Given the description of an element on the screen output the (x, y) to click on. 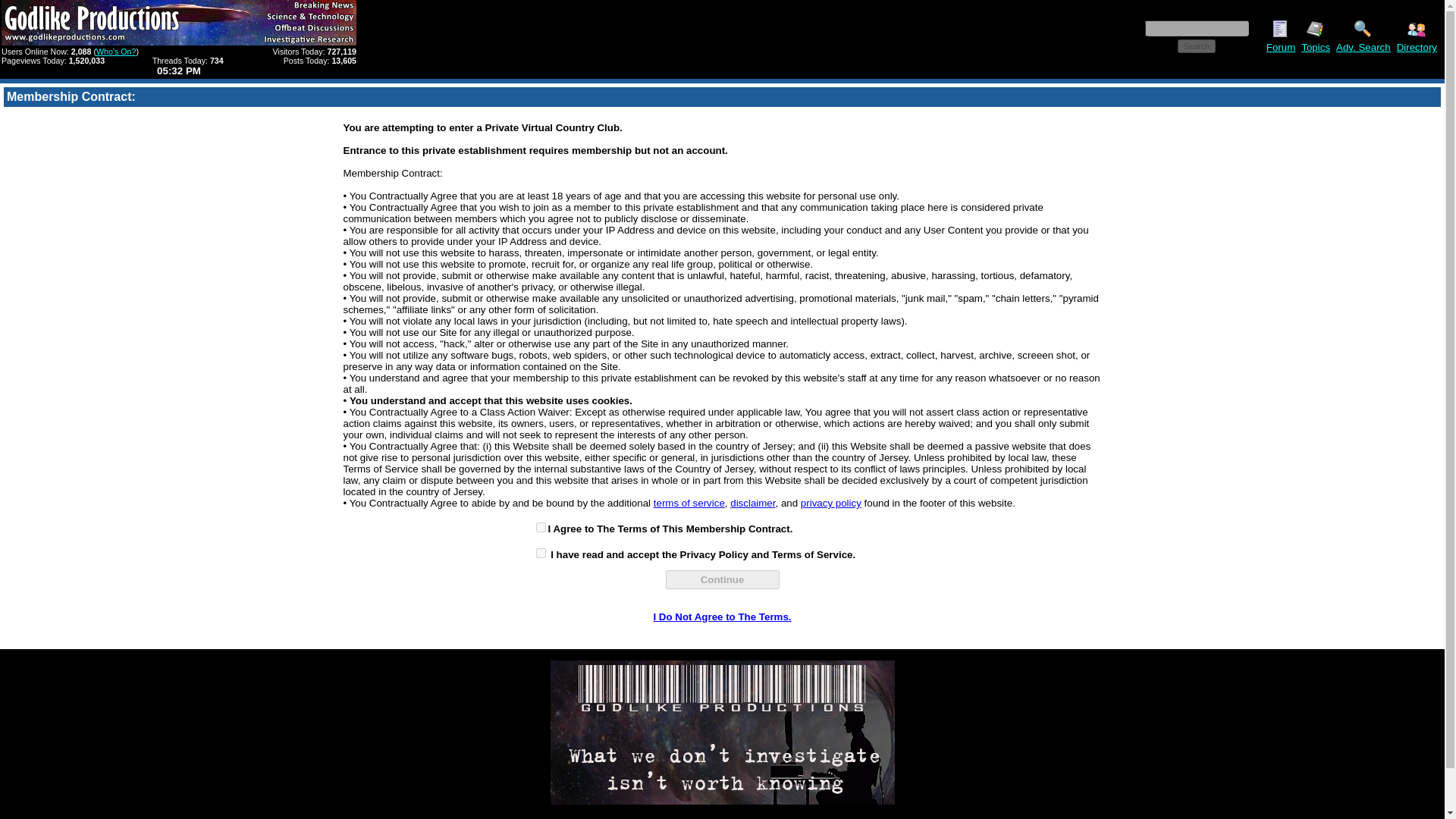
Search (1196, 46)
terms of service (689, 502)
Who's On? (115, 51)
Continue (721, 579)
Forum (1280, 47)
I Do Not Agree to The Terms. (721, 616)
privacy policy (830, 502)
Adv. Search (1363, 47)
1 (539, 527)
Continue (721, 579)
1 (539, 552)
GLP (722, 732)
disclaimer (752, 502)
Directory (1416, 47)
Search (1196, 46)
